Given the description of an element on the screen output the (x, y) to click on. 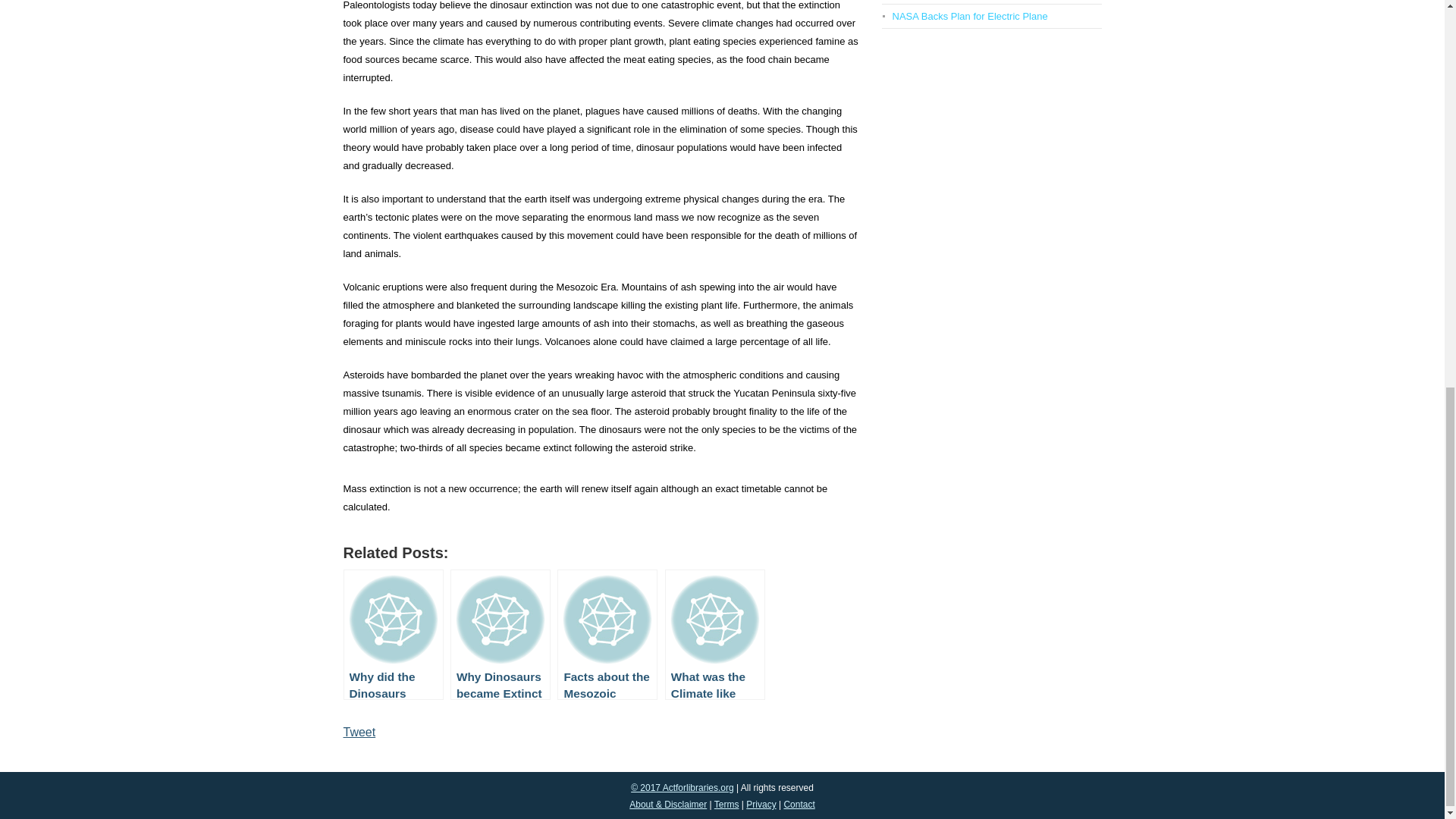
NASA Backs Plan for Electric Plane (968, 16)
Tweet (358, 731)
Contact (798, 804)
Privacy (760, 804)
Terms (726, 804)
